Given the description of an element on the screen output the (x, y) to click on. 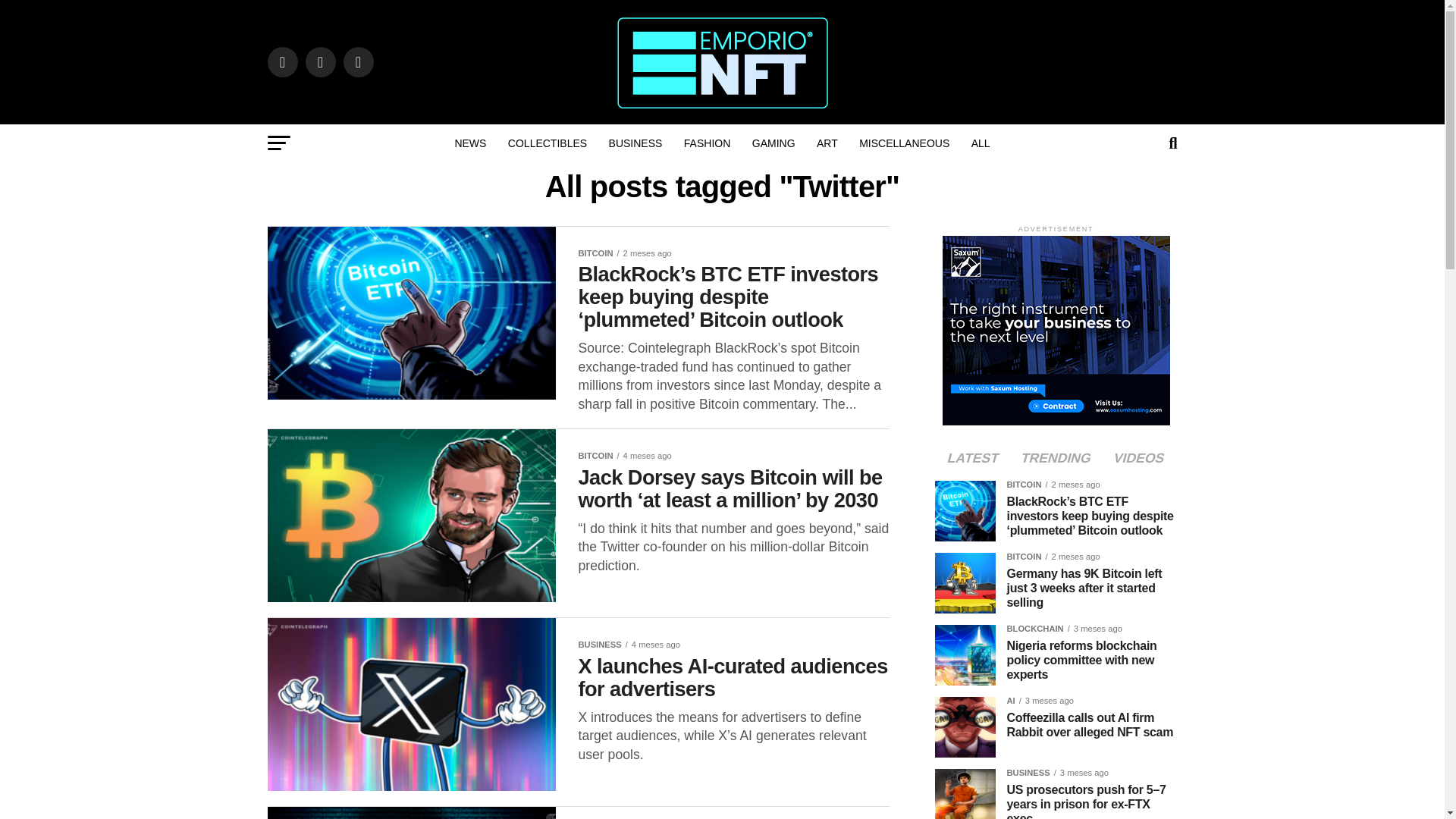
BUSINESS (635, 143)
GAMING (773, 143)
COLLECTIBLES (547, 143)
FASHION (707, 143)
NEWS (470, 143)
